Given the description of an element on the screen output the (x, y) to click on. 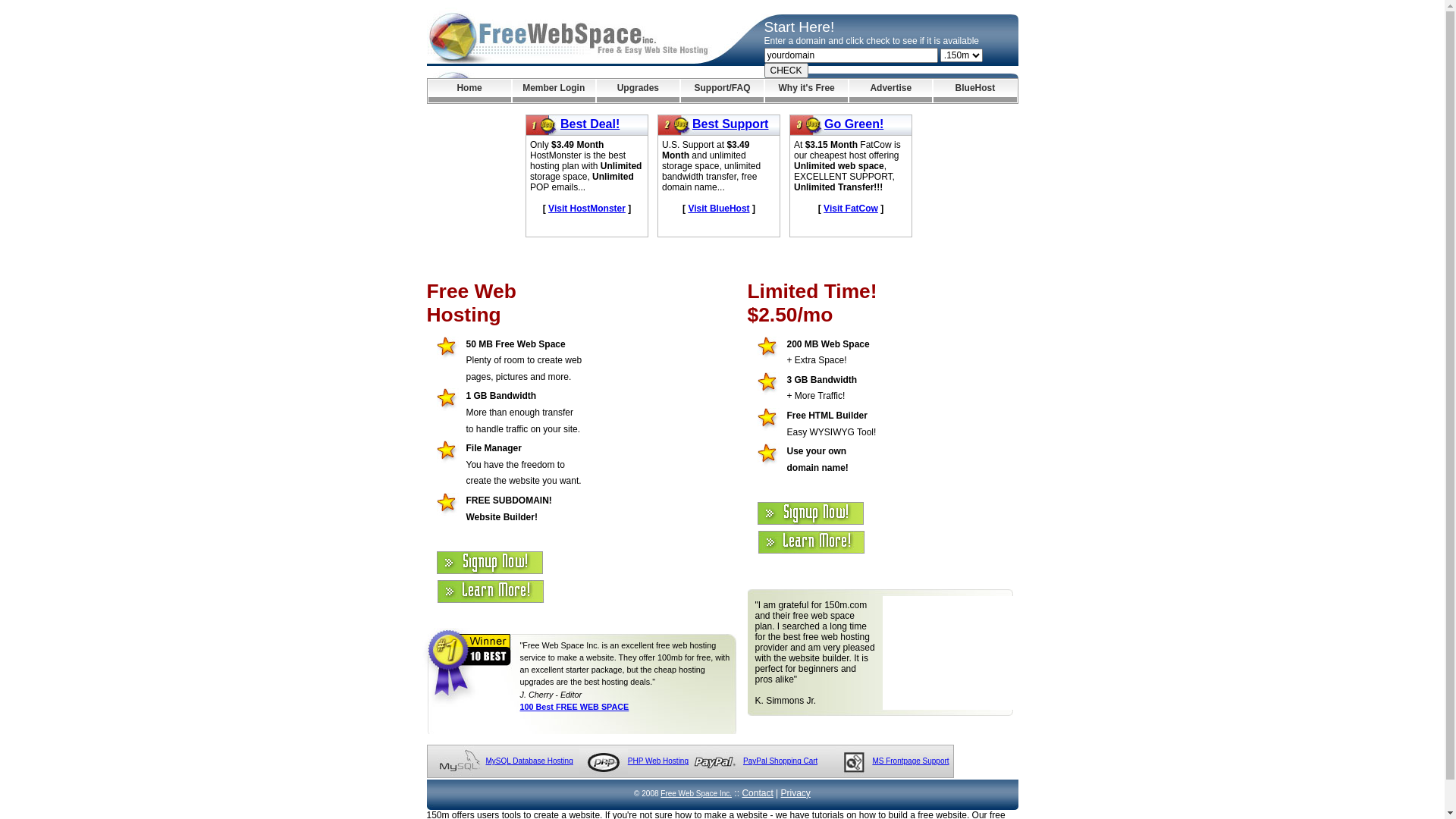
Privacy Element type: text (795, 792)
Advertise Element type: text (890, 90)
MySQL Database Hosting Element type: text (528, 760)
Why it's Free Element type: text (806, 90)
BlueHost Element type: text (974, 90)
Free Web Space Inc. Element type: text (695, 793)
PayPal Shopping Cart Element type: text (780, 760)
Contact Element type: text (756, 792)
PHP Web Hosting Element type: text (657, 760)
Home Element type: text (468, 90)
Member Login Element type: text (553, 90)
MS Frontpage Support Element type: text (910, 760)
CHECK Element type: text (786, 70)
Support/FAQ Element type: text (721, 90)
100 Best FREE WEB SPACE Element type: text (574, 706)
Upgrades Element type: text (637, 90)
